Given the description of an element on the screen output the (x, y) to click on. 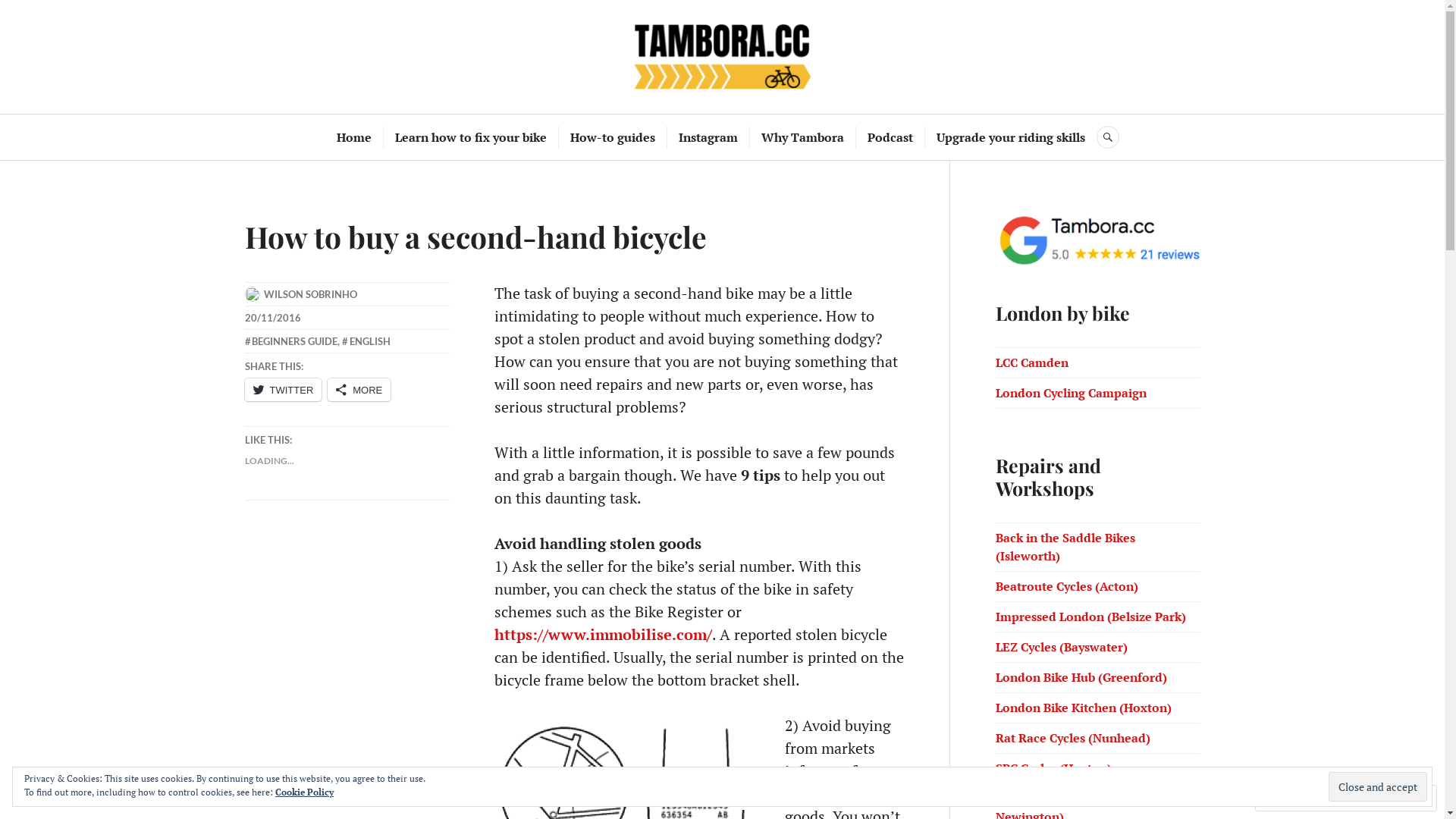
LCC Camden Element type: text (1030, 362)
Rat Race Cycles (Nunhead) Element type: text (1071, 737)
Cookie Policy Element type: text (304, 791)
WILSON SOBRINHO Element type: text (310, 294)
Podcast Element type: text (890, 136)
ENGLISH Element type: text (366, 341)
Learn how to fix your bike Element type: text (470, 136)
Impressed London (Belsize Park) Element type: text (1089, 616)
Follow Element type: text (1372, 797)
London Bike Hub (Greenford) Element type: text (1080, 676)
LEZ Cycles (Bayswater) Element type: text (1060, 646)
London Cycling Campaign Element type: text (1069, 392)
Comment Element type: text (1296, 797)
Close and accept Element type: text (1377, 786)
Instagram Element type: text (707, 136)
Why Tambora Element type: text (802, 136)
MORE Element type: text (358, 389)
Tambora.cc Element type: text (722, 56)
SBC Cycles (Hoxton) Element type: text (1052, 767)
Back in the Saddle Bikes (Isleworth) Element type: text (1064, 546)
BEGINNERS GUIDE Element type: text (290, 341)
TWITTER Element type: text (282, 389)
How-to guides Element type: text (612, 136)
https://www.immobilise.com/ Element type: text (603, 634)
Home Element type: text (353, 136)
London Bike Kitchen (Hoxton) Element type: text (1082, 707)
20/11/2016 Element type: text (272, 317)
Upgrade your riding skills Element type: text (1010, 136)
Beatroute Cycles (Acton) Element type: text (1065, 585)
